Given the description of an element on the screen output the (x, y) to click on. 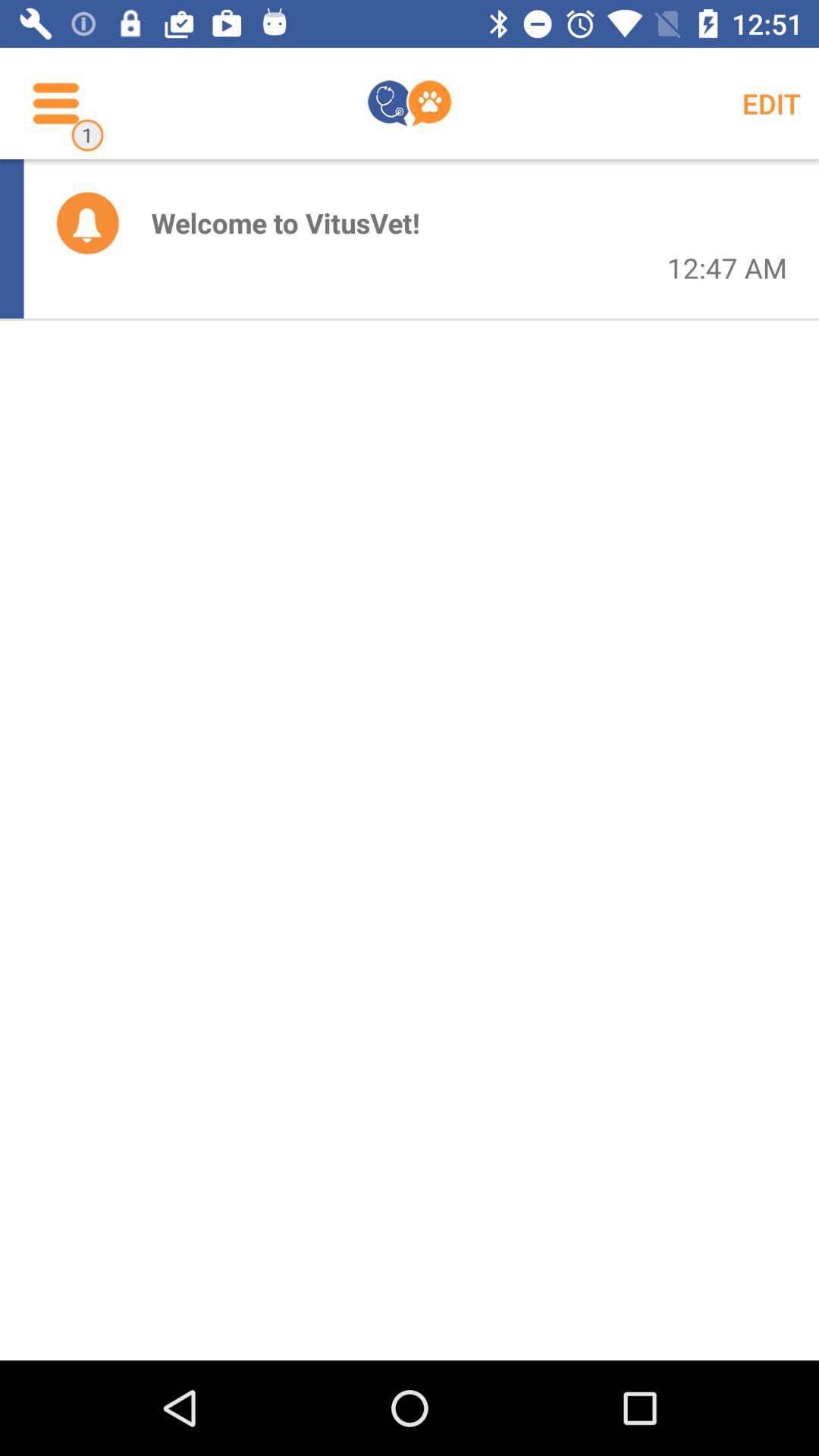
press item below edit (727, 267)
